Given the description of an element on the screen output the (x, y) to click on. 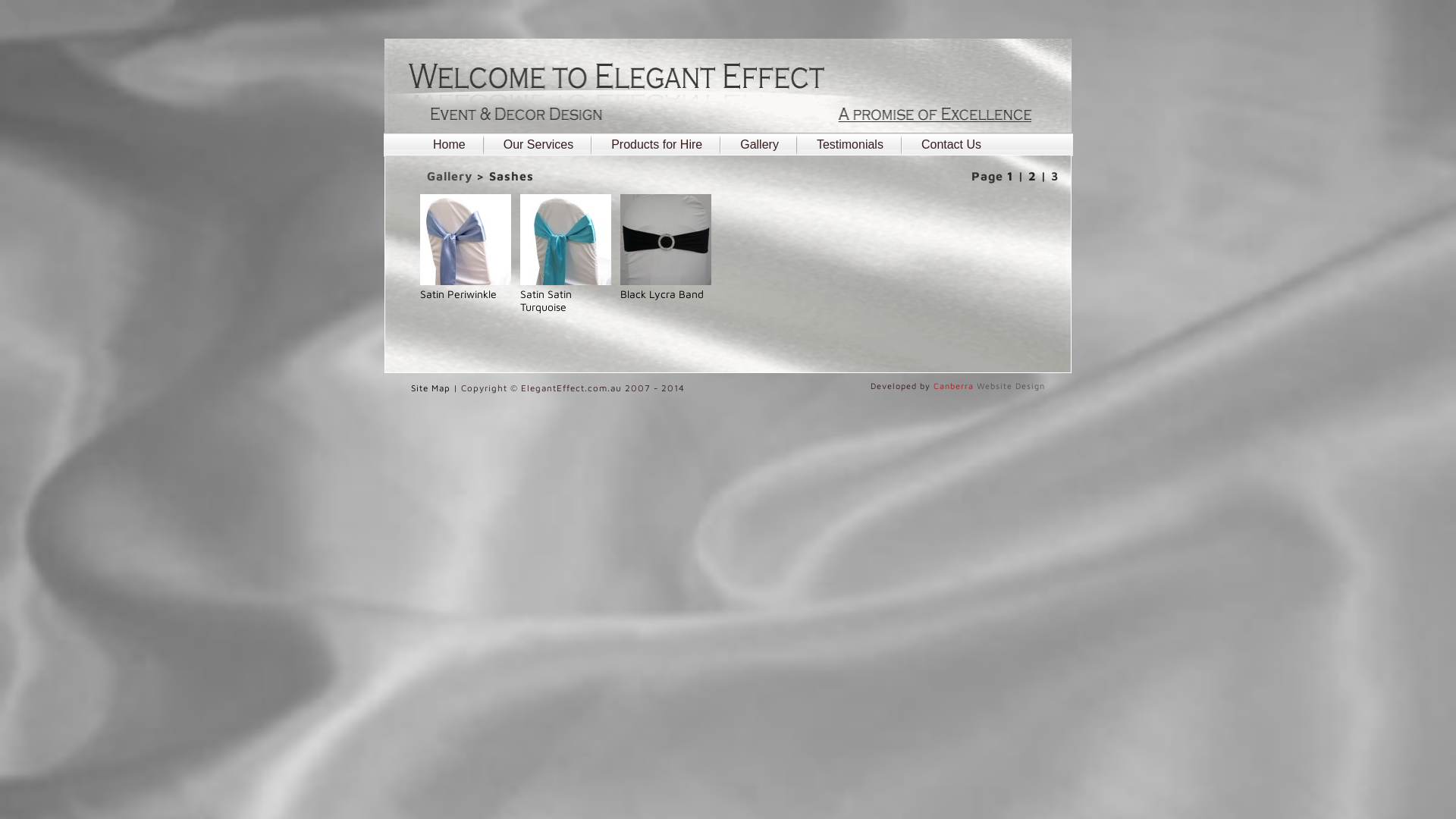
2 Element type: text (1032, 175)
Gallery Element type: text (759, 144)
Home Element type: text (449, 144)
Satin Satin Turquoise Element type: text (565, 293)
Our Services Element type: text (538, 144)
Canberra Website Design Element type: text (988, 385)
Contact Us Element type: text (951, 144)
Satin Periwinkle Element type: text (465, 287)
1 Element type: text (1010, 175)
Products for Hire Element type: text (656, 144)
Gallery Element type: text (449, 175)
Site Map Element type: text (430, 387)
Powered by MiniGal Nano 0.3.5 Element type: text (1000, 350)
Black Lycra Band Element type: text (665, 287)
Testimonials Element type: text (849, 144)
